Given the description of an element on the screen output the (x, y) to click on. 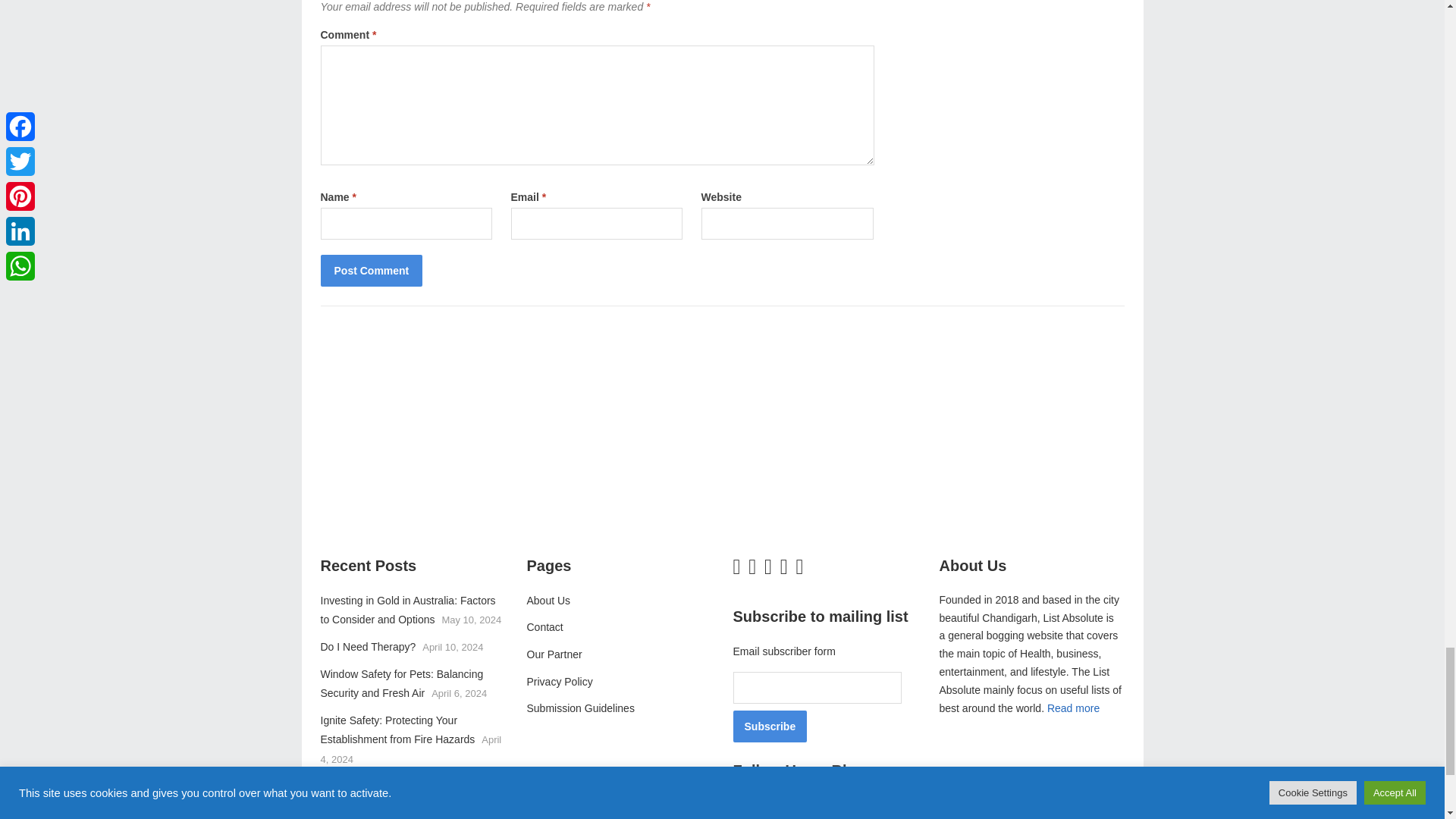
Post Comment (371, 270)
Subscribe (769, 726)
